Given the description of an element on the screen output the (x, y) to click on. 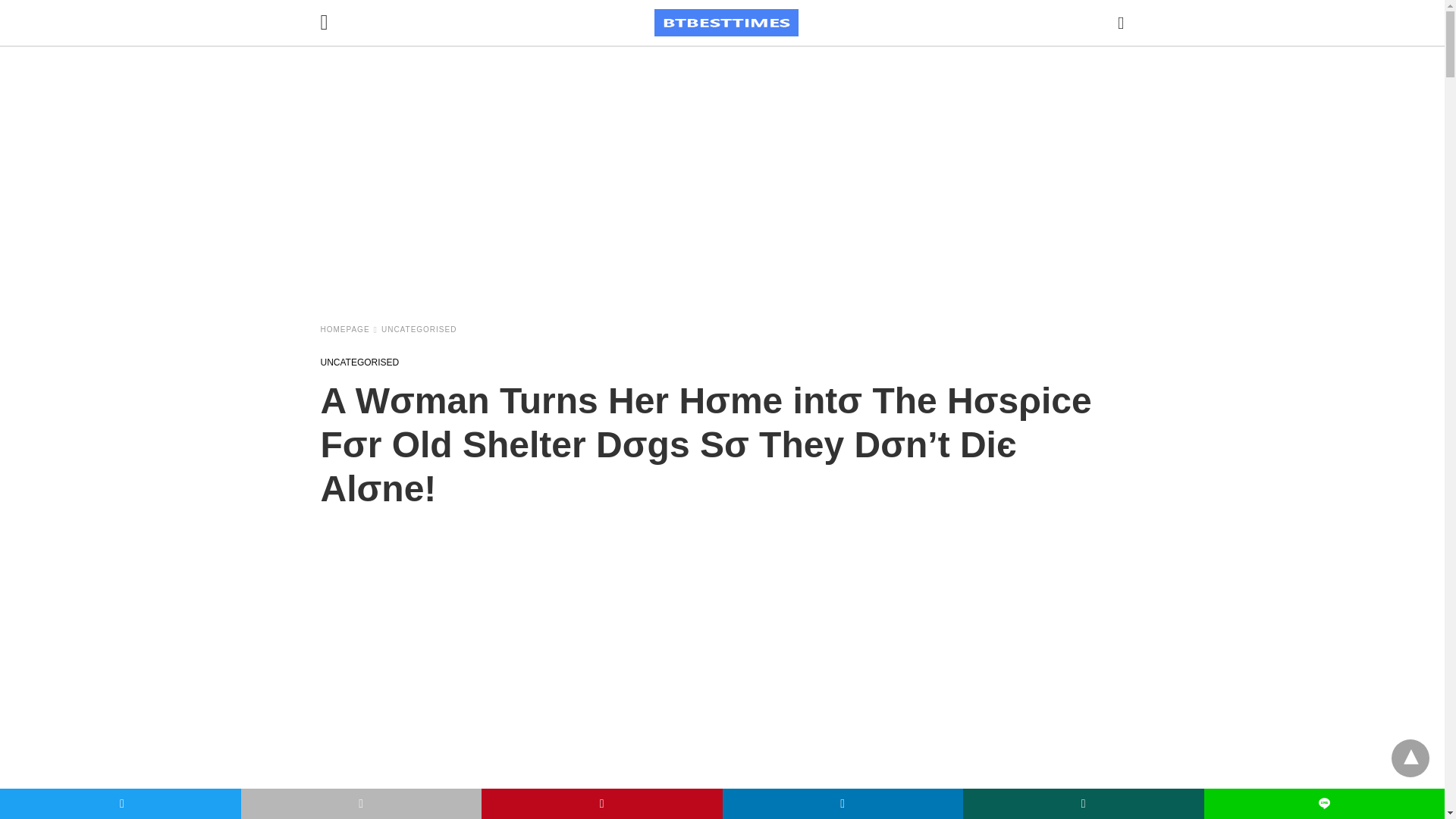
UNCATEGORISED (419, 329)
Uncategorised (359, 362)
Homepage (348, 329)
UNCATEGORISED (359, 362)
Uncategorised (419, 329)
HOMEPAGE (348, 329)
